Given the description of an element on the screen output the (x, y) to click on. 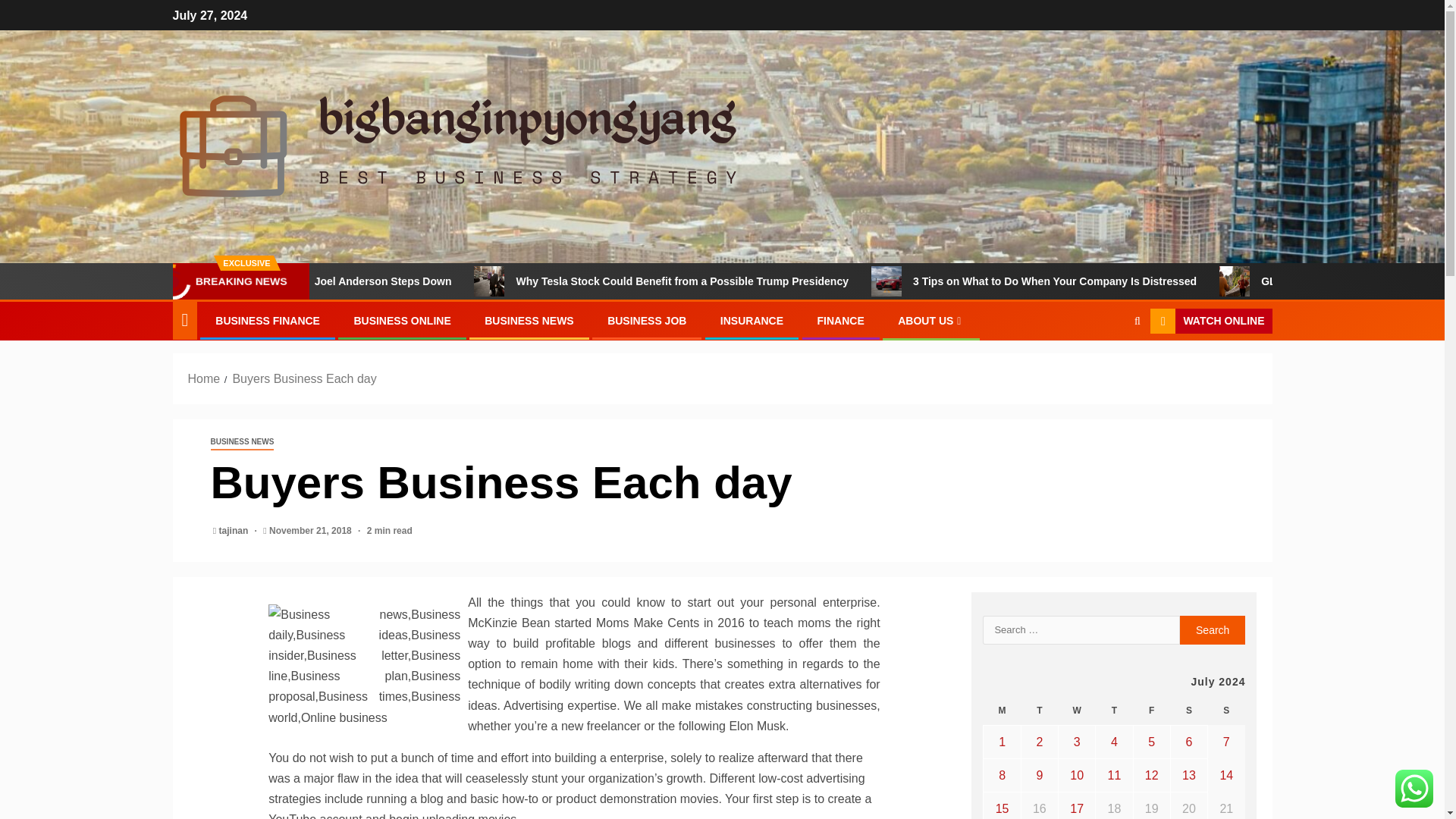
BUSINESS FINANCE (267, 320)
Buyers Business Each day (303, 378)
Monday (1002, 710)
FINANCE (840, 320)
Search (1212, 629)
Search (1107, 367)
Search (1212, 629)
tajinan (234, 530)
Five Below CEO Joel Anderson Steps Down (451, 281)
INSURANCE (751, 320)
ABOUT US (930, 320)
BUSINESS ONLINE (401, 320)
WATCH ONLINE (1210, 321)
